Given the description of an element on the screen output the (x, y) to click on. 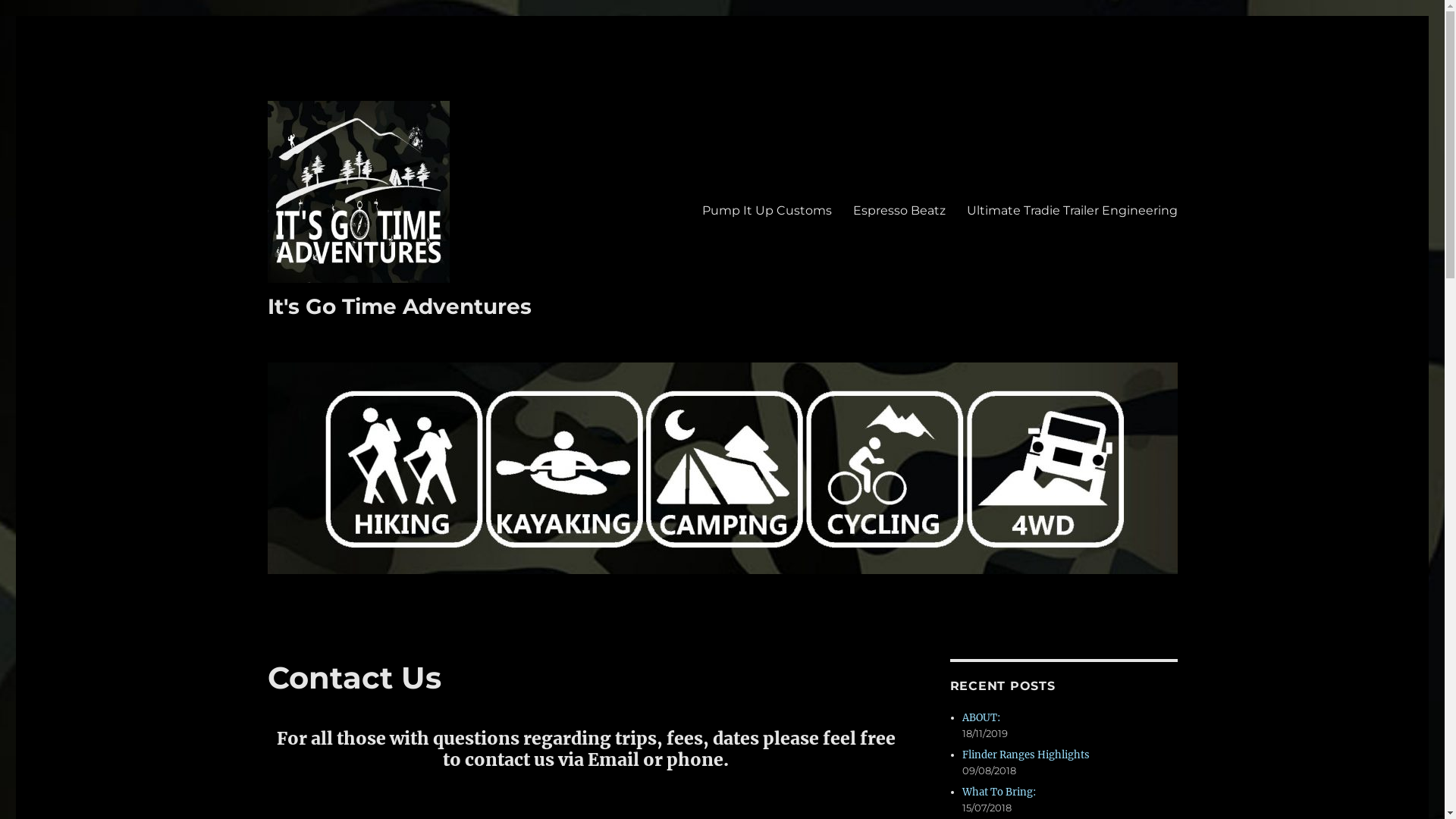
What To Bring: Element type: text (998, 791)
Flinder Ranges Highlights Element type: text (1025, 754)
Espresso Beatz Element type: text (898, 209)
ABOUT: Element type: text (981, 717)
It's Go Time Adventures Element type: text (398, 306)
Pump It Up Customs Element type: text (766, 209)
Ultimate Tradie Trailer Engineering Element type: text (1071, 209)
